Given the description of an element on the screen output the (x, y) to click on. 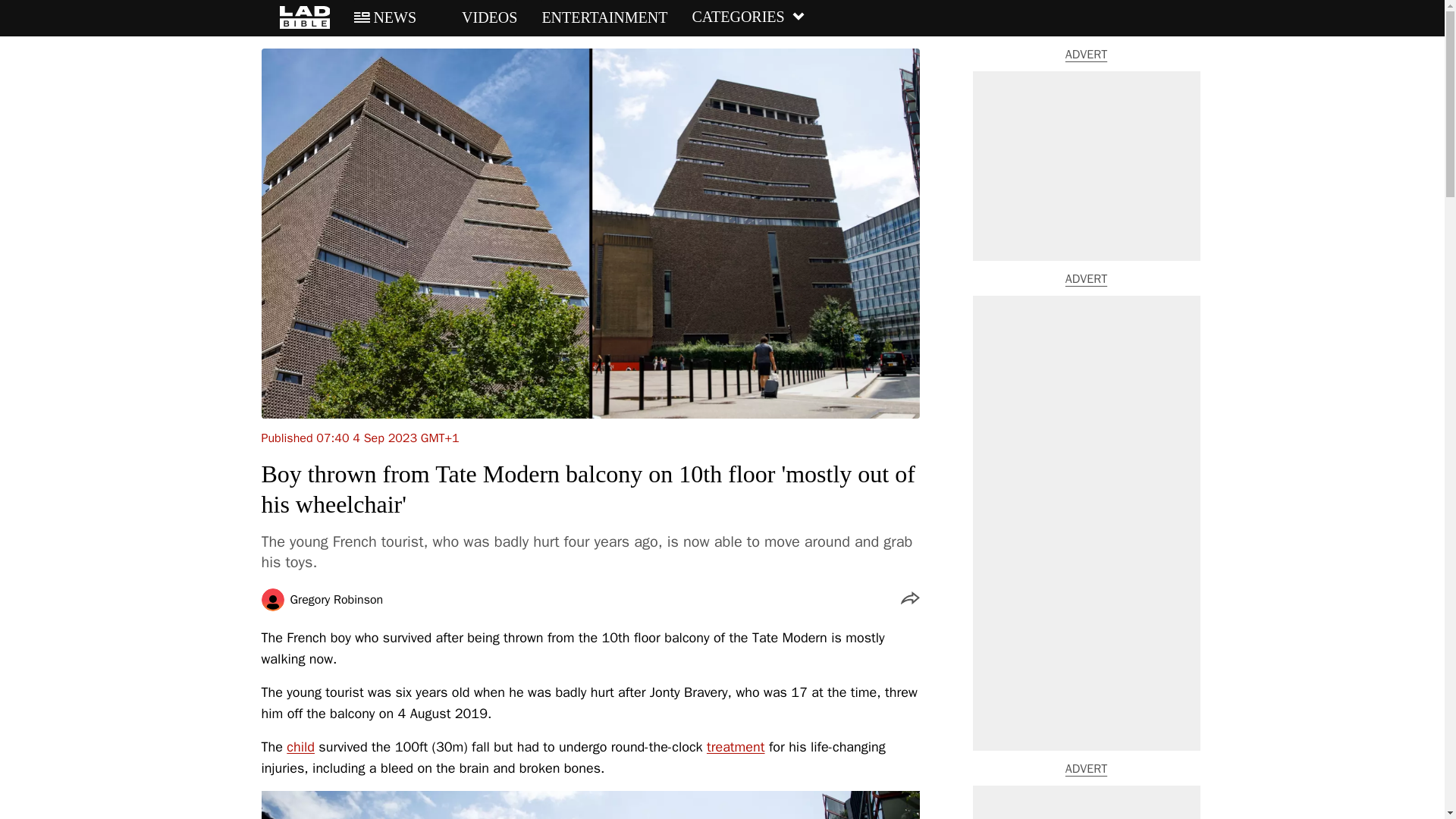
VIDEOS (478, 17)
NEWS (384, 17)
CATEGORIES (748, 17)
ENTERTAINMENT (603, 17)
